Given the description of an element on the screen output the (x, y) to click on. 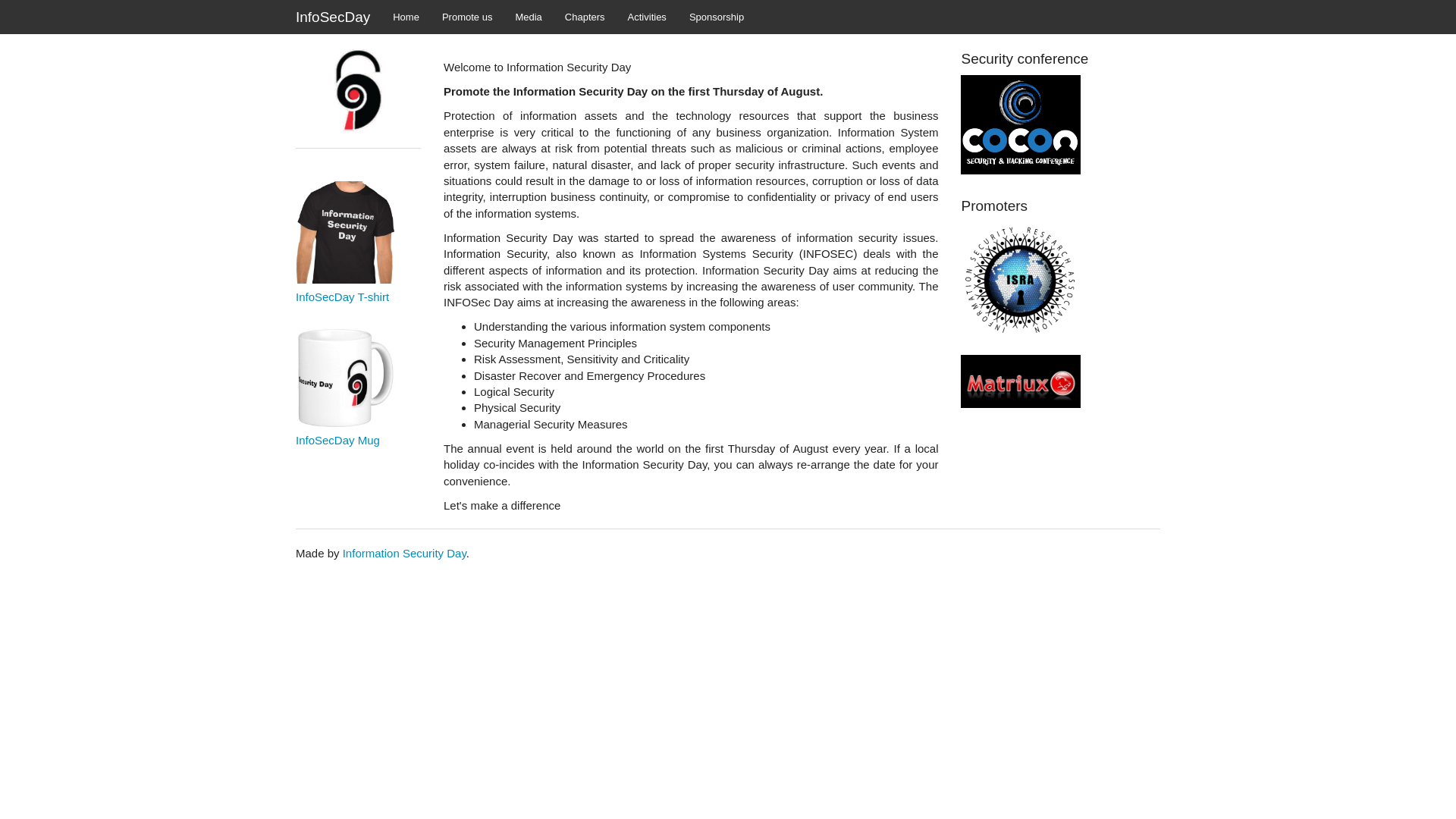
Information Security Day (403, 553)
Home (405, 17)
Chapters (584, 17)
InfoSecDay T-shirt (357, 342)
Media (528, 17)
InfoSecDay Mug (357, 408)
InfoSecDay (332, 17)
Promote us (466, 17)
Activities (646, 17)
Sponsorship (716, 17)
